Given the description of an element on the screen output the (x, y) to click on. 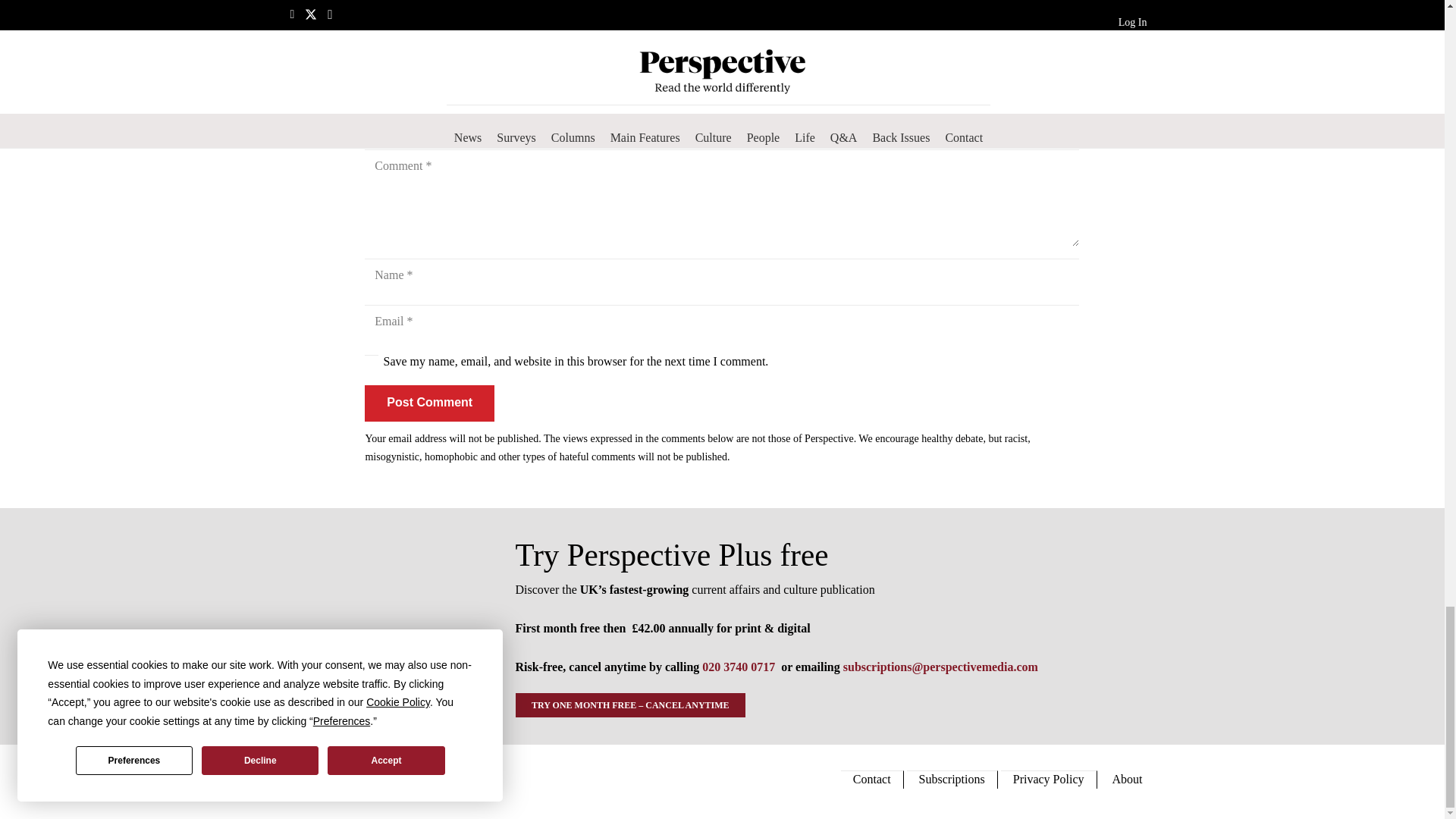
Claim Offer (722, 0)
Post Comment (430, 402)
News (378, 33)
Trial Offer (383, 626)
1 (371, 361)
